Given the description of an element on the screen output the (x, y) to click on. 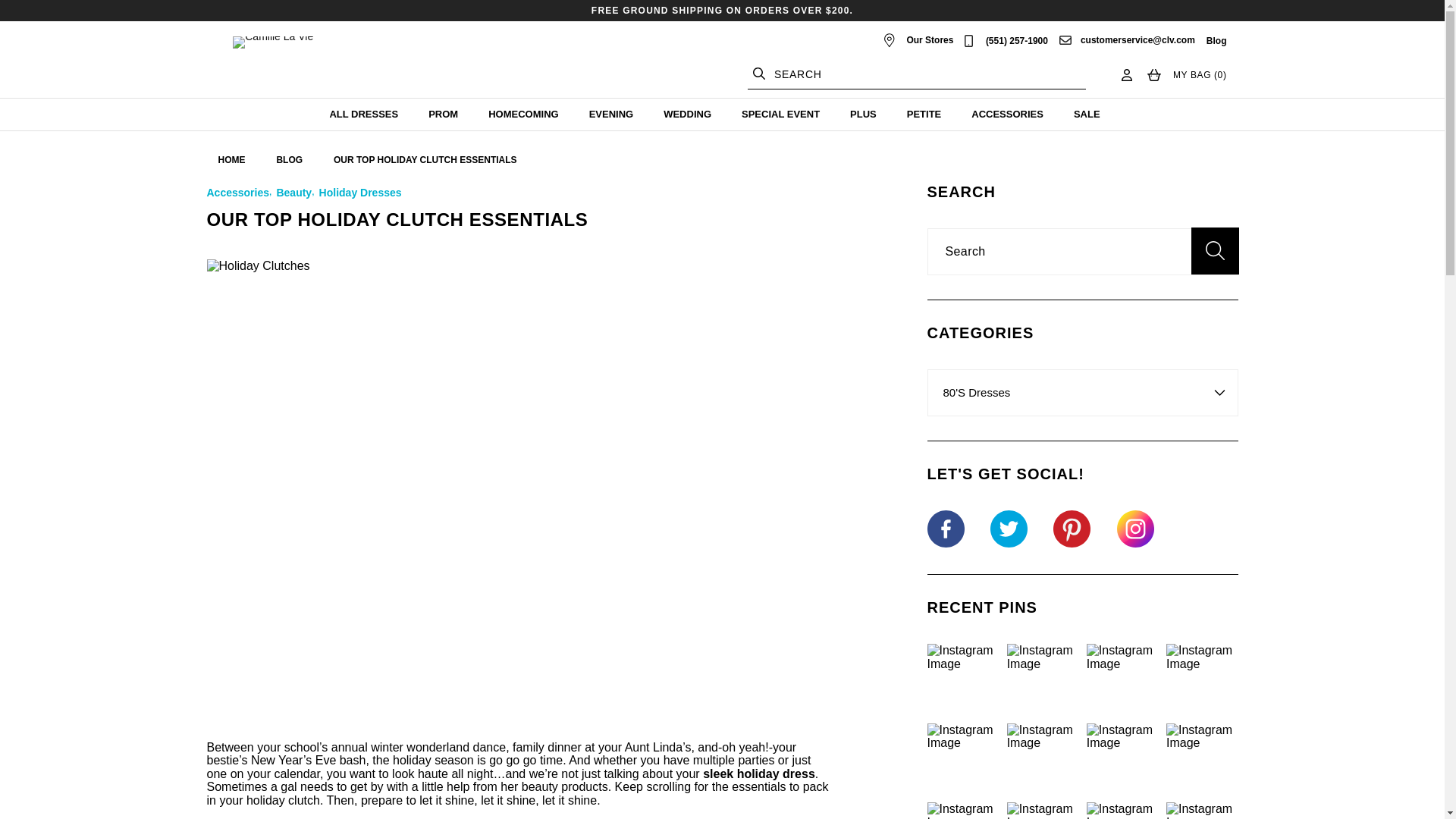
Skip to content (45, 17)
Click here for Phone (1016, 40)
Click here for Email (1137, 40)
